Given the description of an element on the screen output the (x, y) to click on. 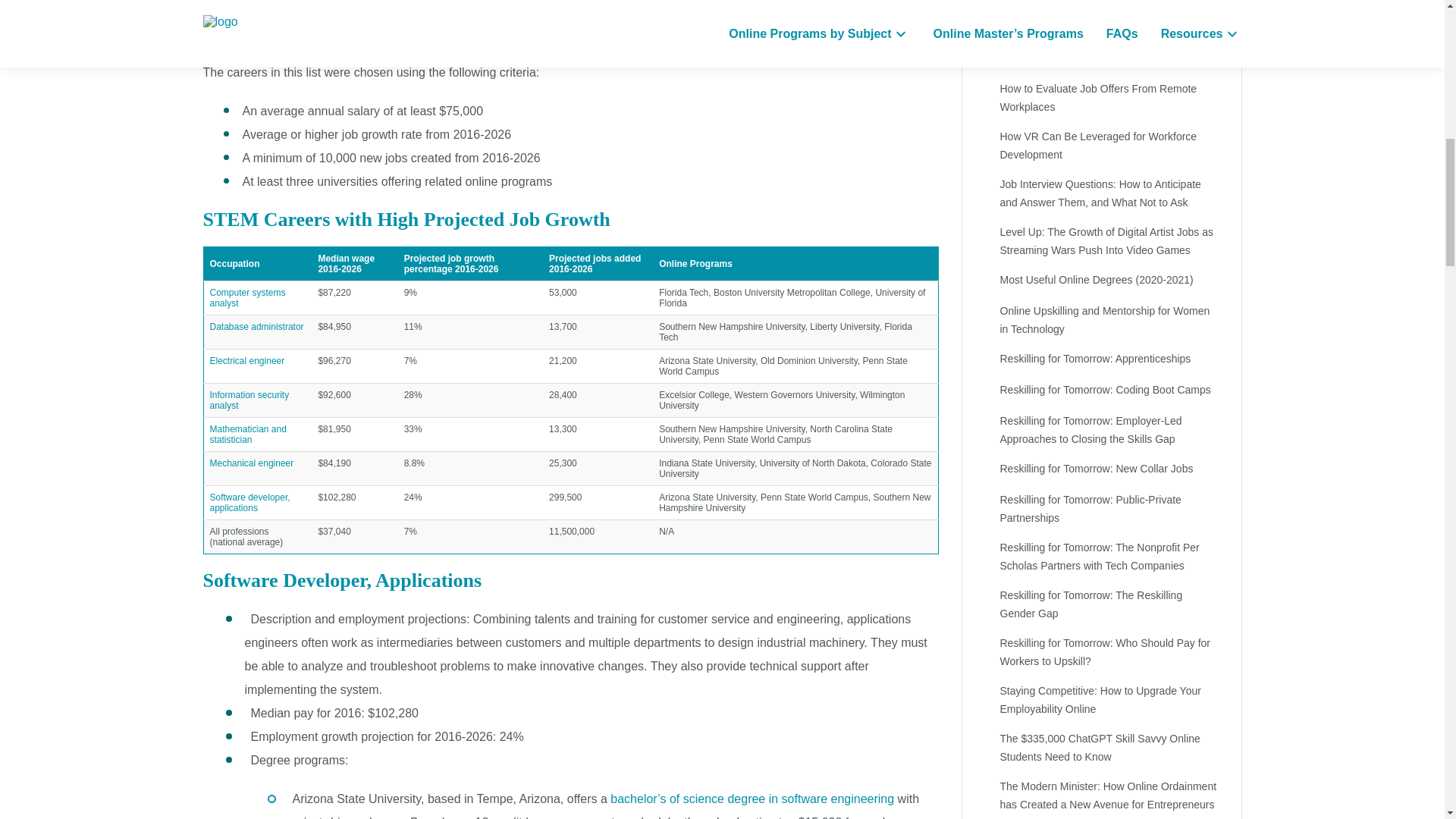
Mathematician and statistician (247, 434)
Electrical engineer (246, 360)
Database administrator (255, 326)
Information security analyst (248, 400)
Computer systems analyst (247, 297)
Mechanical engineer (251, 462)
Software developer, applications (249, 502)
